Given the description of an element on the screen output the (x, y) to click on. 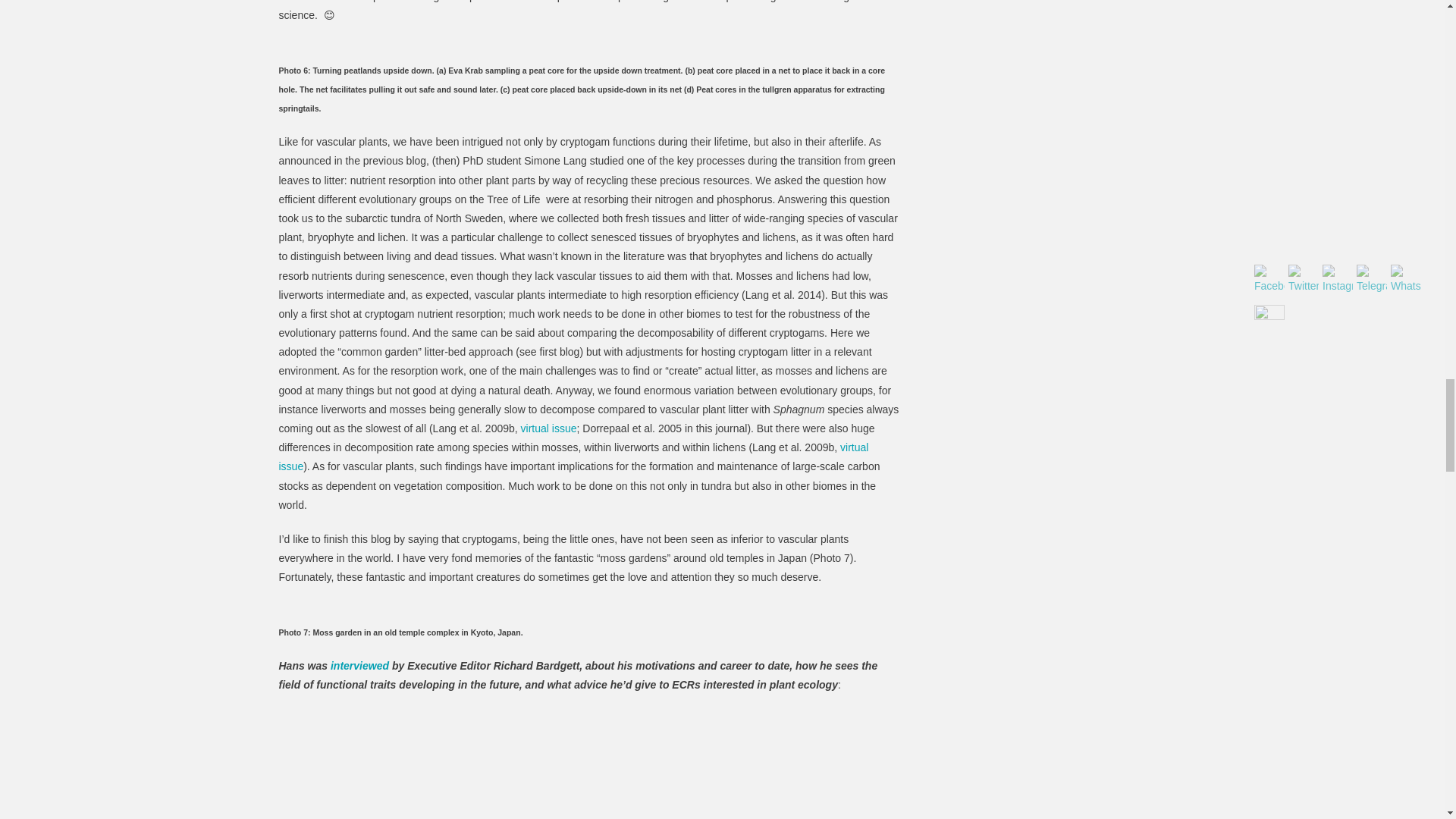
Instagram (1337, 279)
WhatsApp (1405, 279)
Telegram (1371, 279)
Twitter (1303, 279)
Eminent Ecologist 2022: Hans Cornelissen Interview (588, 764)
Facebook (1268, 279)
